Given the description of an element on the screen output the (x, y) to click on. 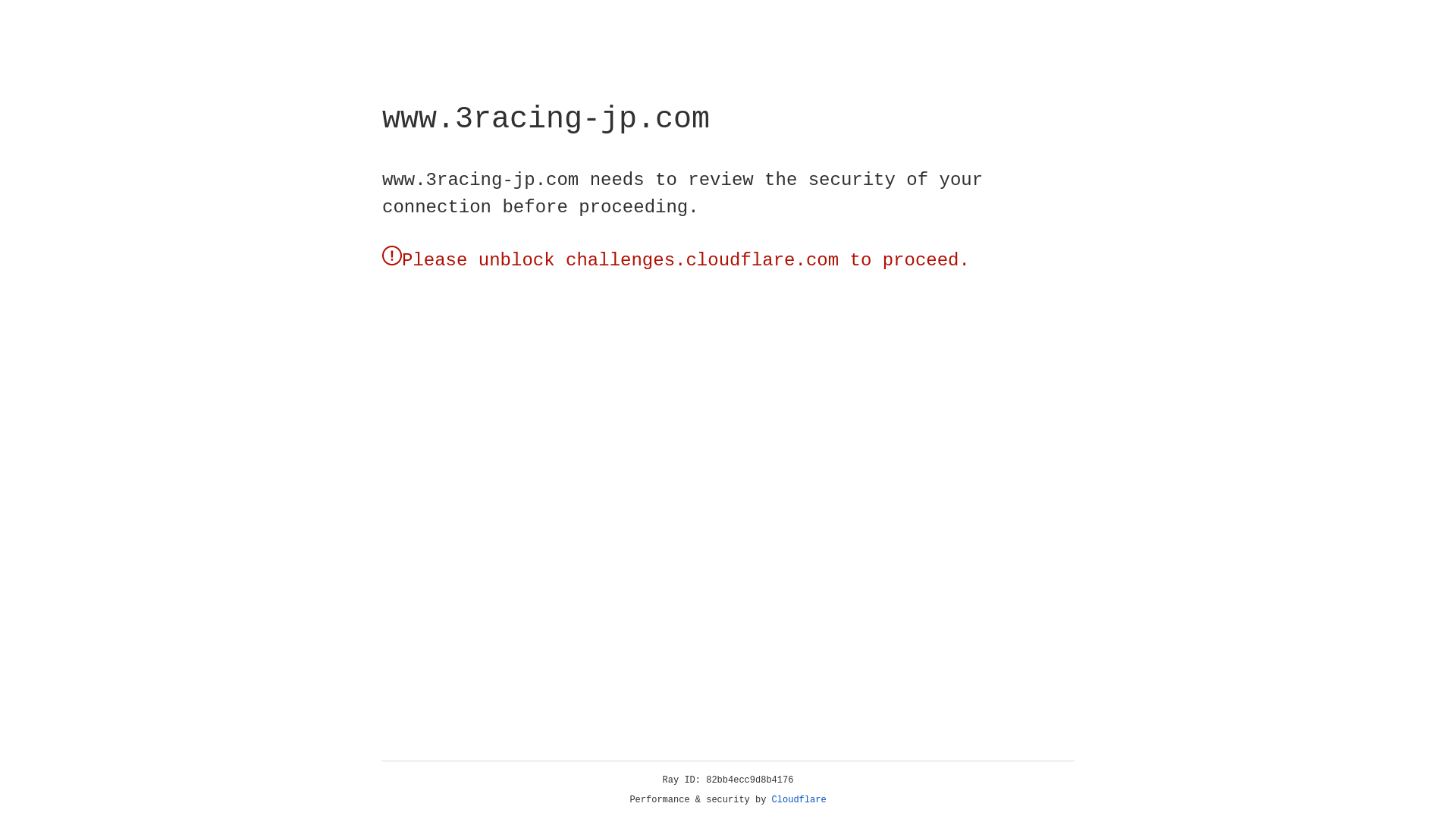
Cloudflare Element type: text (798, 799)
